Given the description of an element on the screen output the (x, y) to click on. 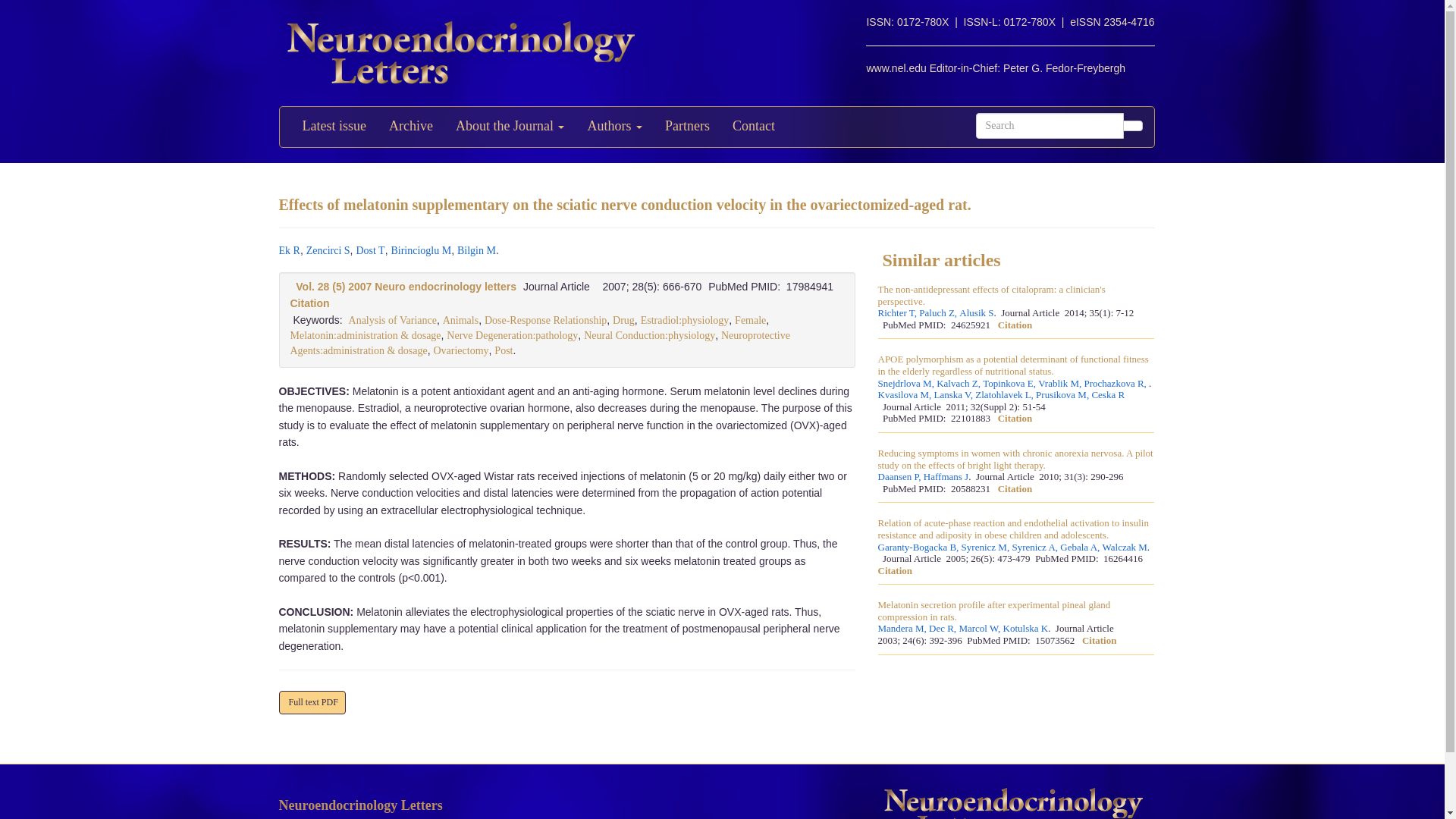
Contact (753, 127)
Latest issue (334, 127)
About the Journal (509, 127)
Dost T (369, 250)
Authors (614, 127)
Female (750, 319)
Post (503, 350)
Animals (460, 319)
Ovariectomy (459, 350)
Partners (686, 127)
Citation (309, 303)
NEL280507A10.pdf (312, 702)
Drug (623, 319)
Birincioglu M (420, 250)
Neural Conduction:physiology (648, 335)
